Given the description of an element on the screen output the (x, y) to click on. 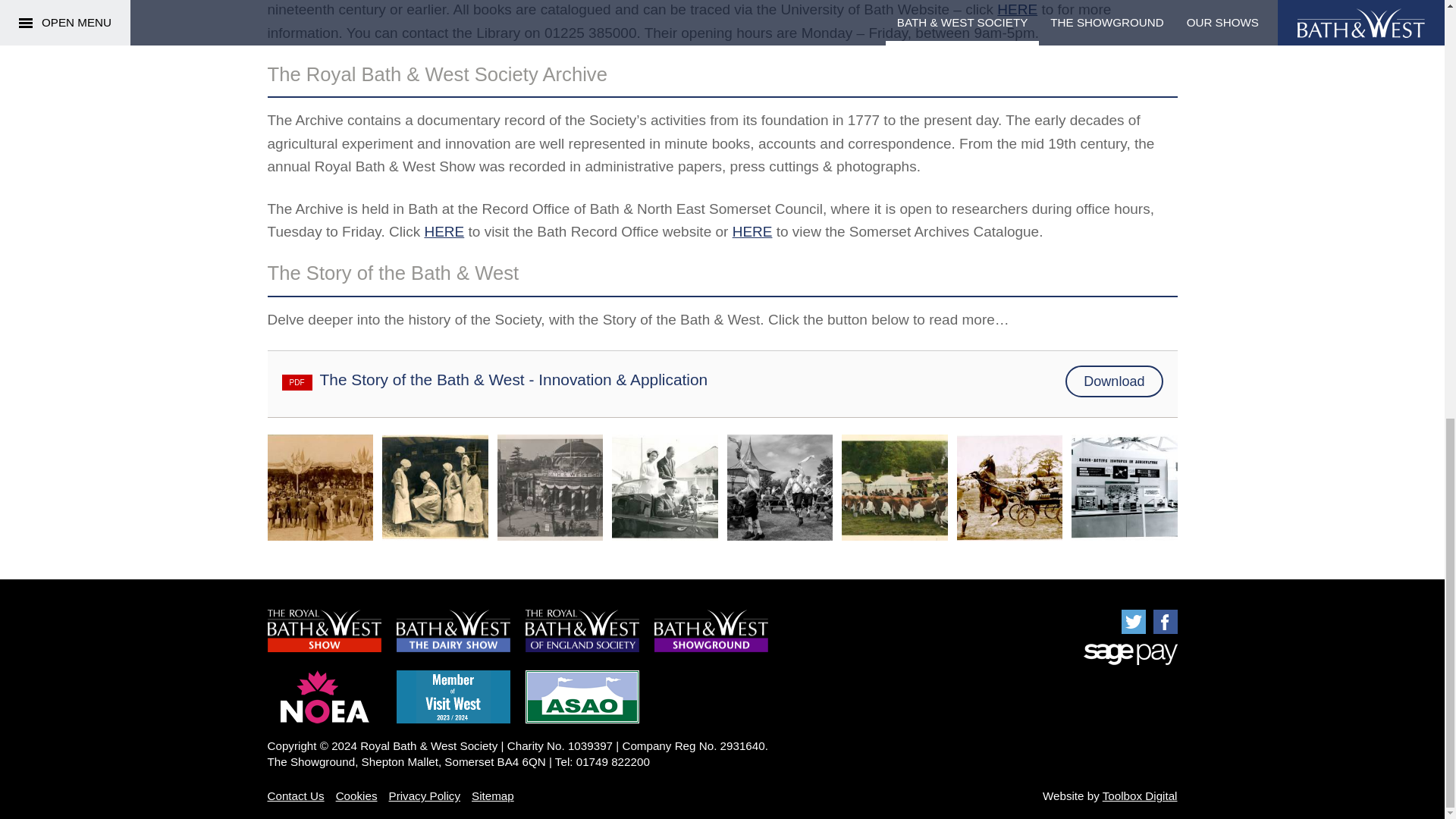
HERE (752, 231)
HERE (443, 231)
HERE (1016, 9)
Download (1113, 381)
